Given the description of an element on the screen output the (x, y) to click on. 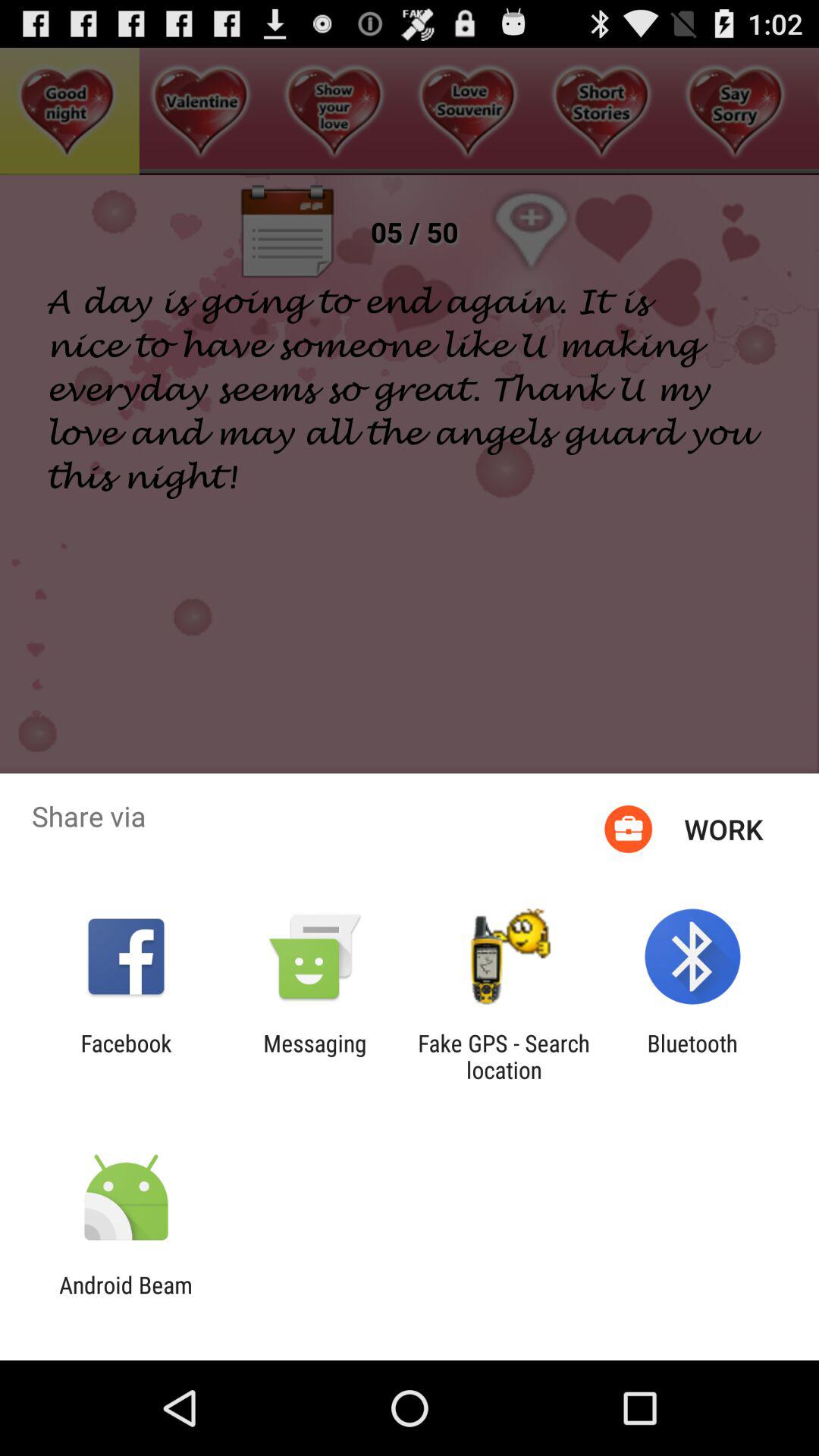
click item next to the fake gps search item (314, 1056)
